Given the description of an element on the screen output the (x, y) to click on. 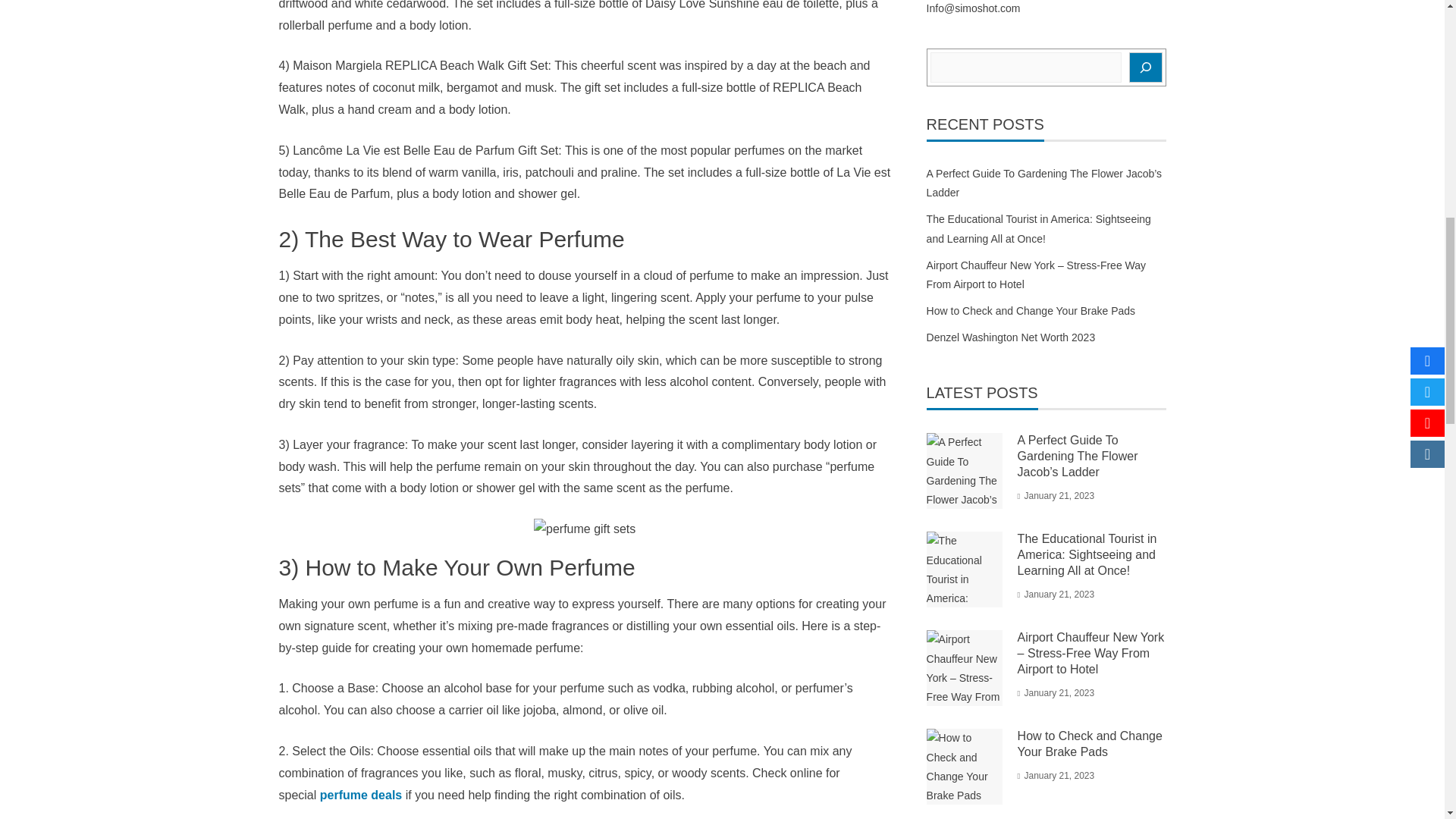
perfume deals (360, 794)
How to Check and Change Your Brake Pads (1030, 310)
How to Check and Change Your Brake Pads (1089, 743)
Denzel Washington Net Worth 2023 (1011, 337)
